Given the description of an element on the screen output the (x, y) to click on. 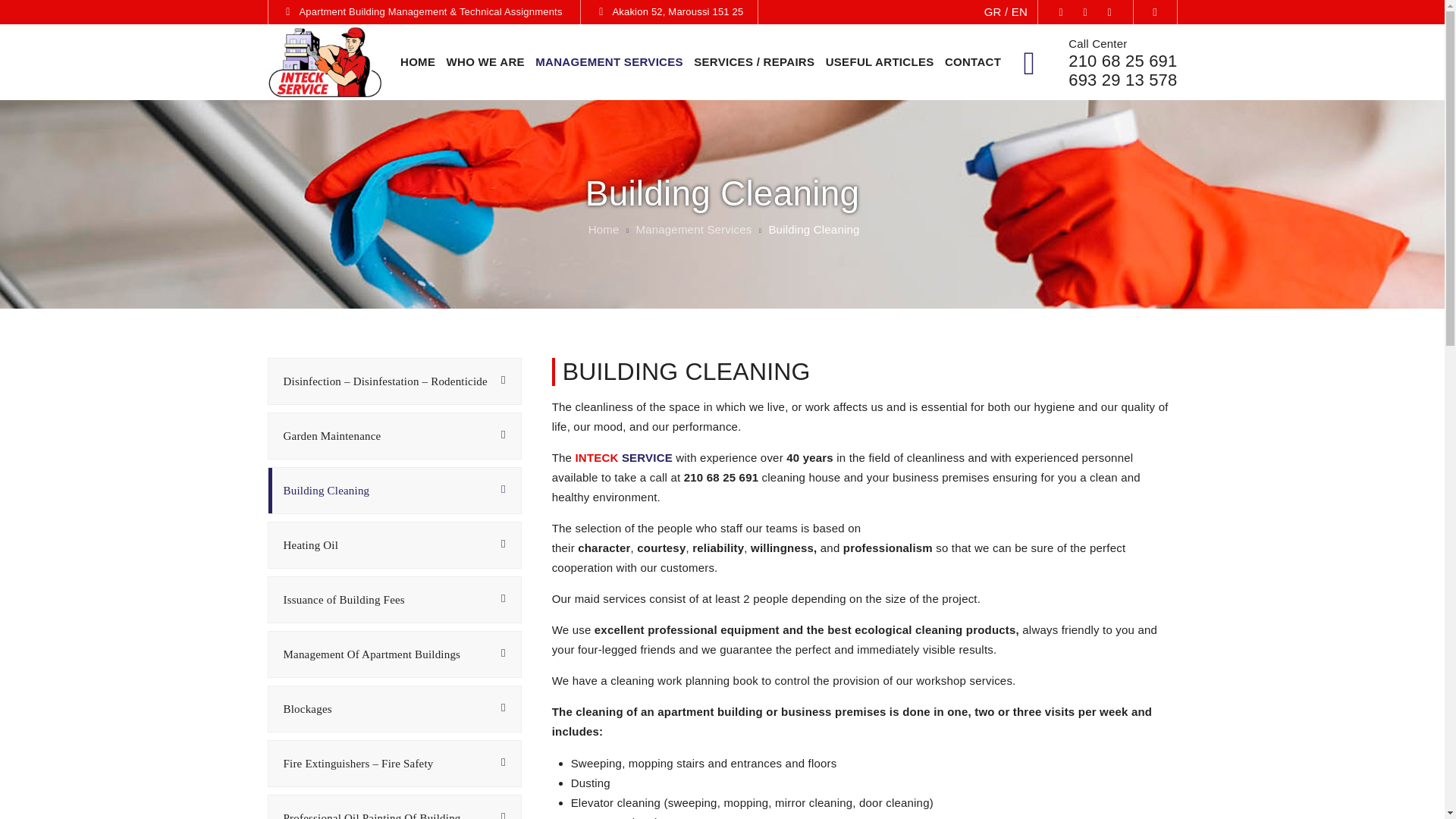
210 68 25 691 (1122, 60)
Akakion 52, Maroussi 151 25 (676, 11)
Go to Property Management. (601, 228)
WHO WE ARE (485, 61)
Go to the Management Services Service Category archives. (692, 228)
MANAGEMENT SERVICES (609, 61)
EN (1019, 11)
USEFUL ARTICLES (879, 61)
Property Management (323, 61)
GR (992, 11)
